Given the description of an element on the screen output the (x, y) to click on. 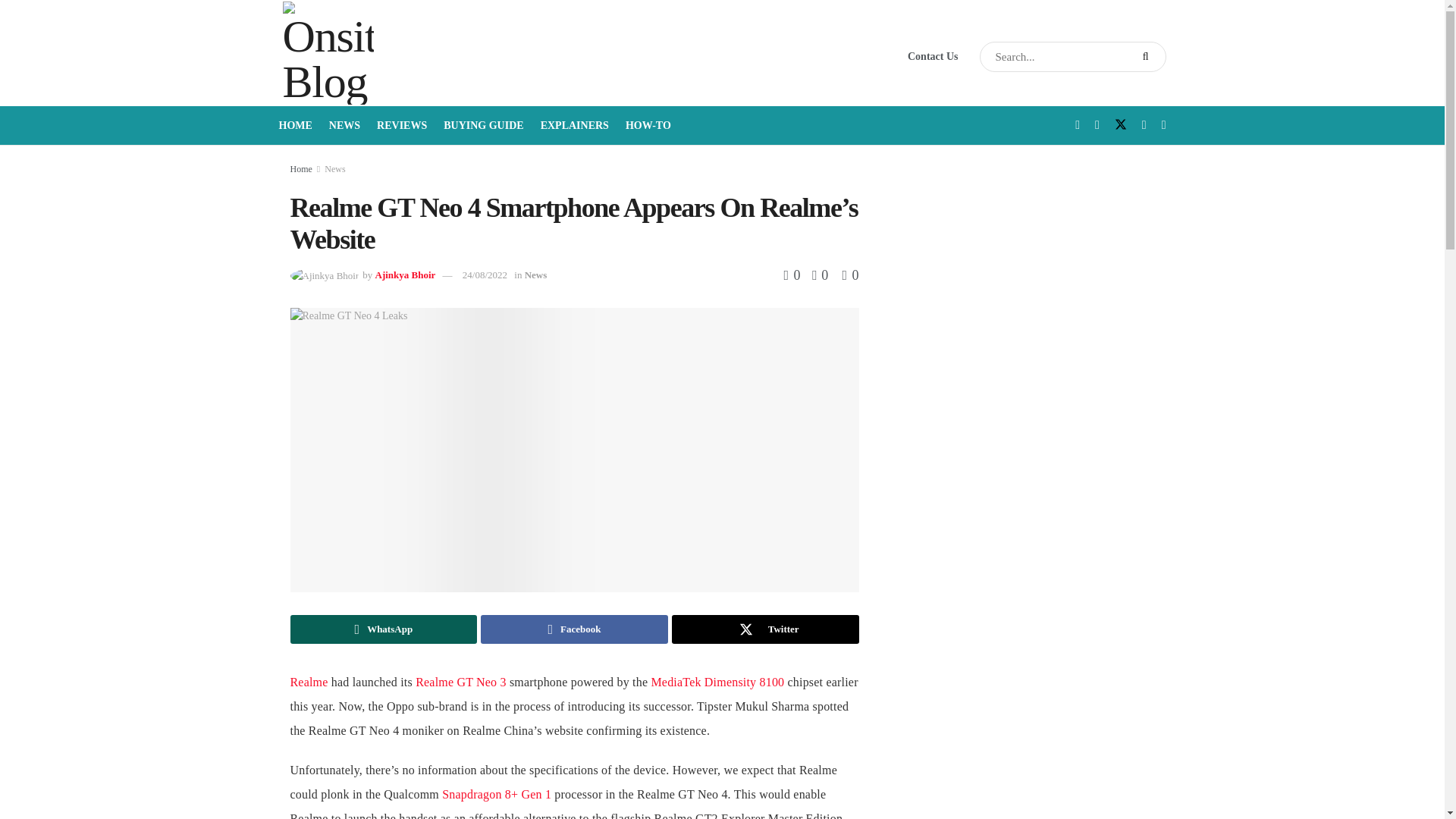
NEWS (344, 125)
0 (850, 274)
HOME (296, 125)
0 (794, 274)
News (535, 274)
0 (815, 274)
EXPLAINERS (574, 125)
Facebook (574, 629)
WhatsApp (383, 629)
Ajinkya Bhoir (404, 274)
